Given the description of an element on the screen output the (x, y) to click on. 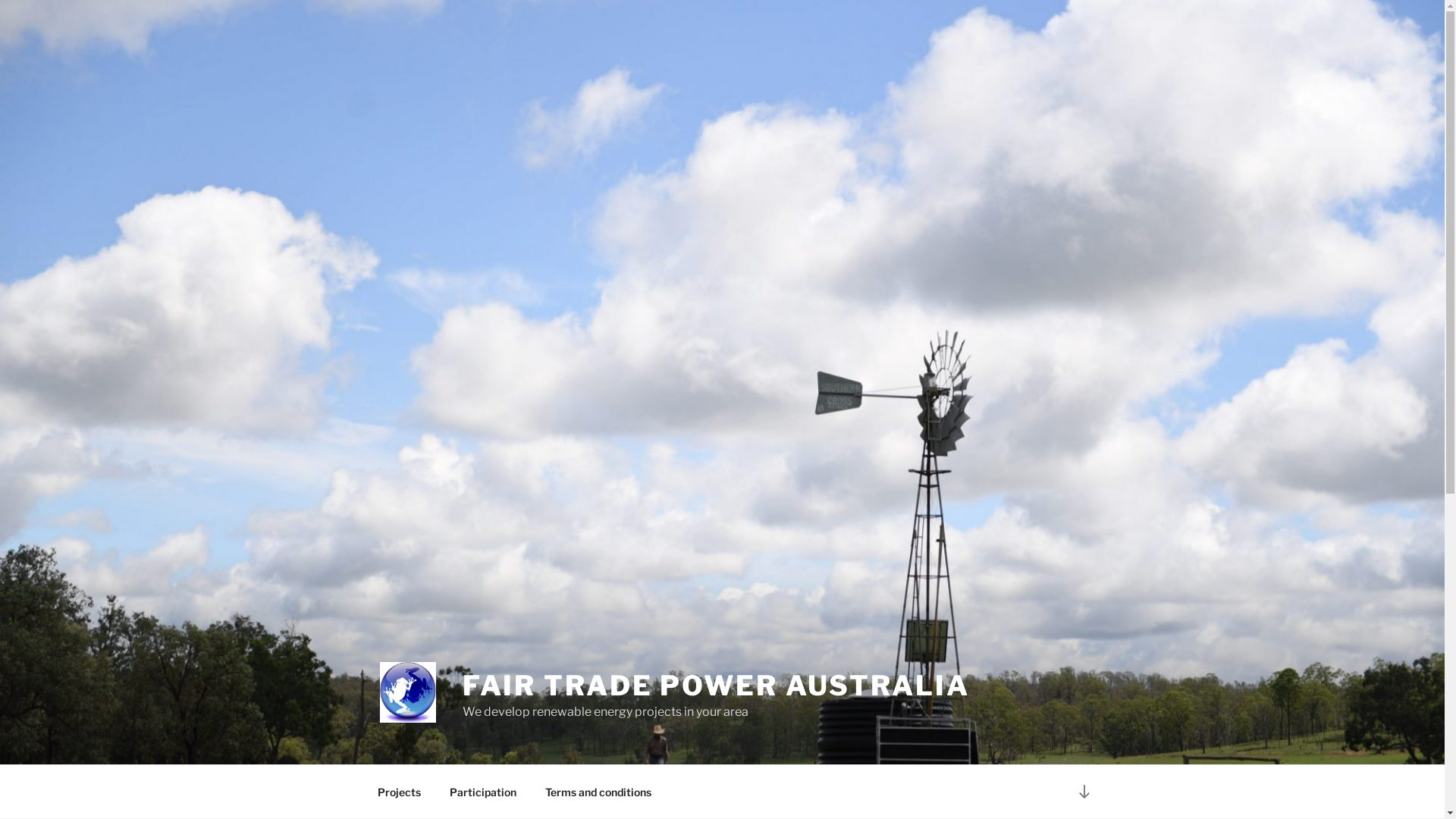
Terms and conditions Element type: text (598, 791)
Scroll down to content Element type: text (1083, 790)
Projects Element type: text (398, 791)
Participation Element type: text (483, 791)
Skip to content Element type: text (0, 0)
FAIR TRADE POWER AUSTRALIA Element type: text (715, 685)
